Given the description of an element on the screen output the (x, y) to click on. 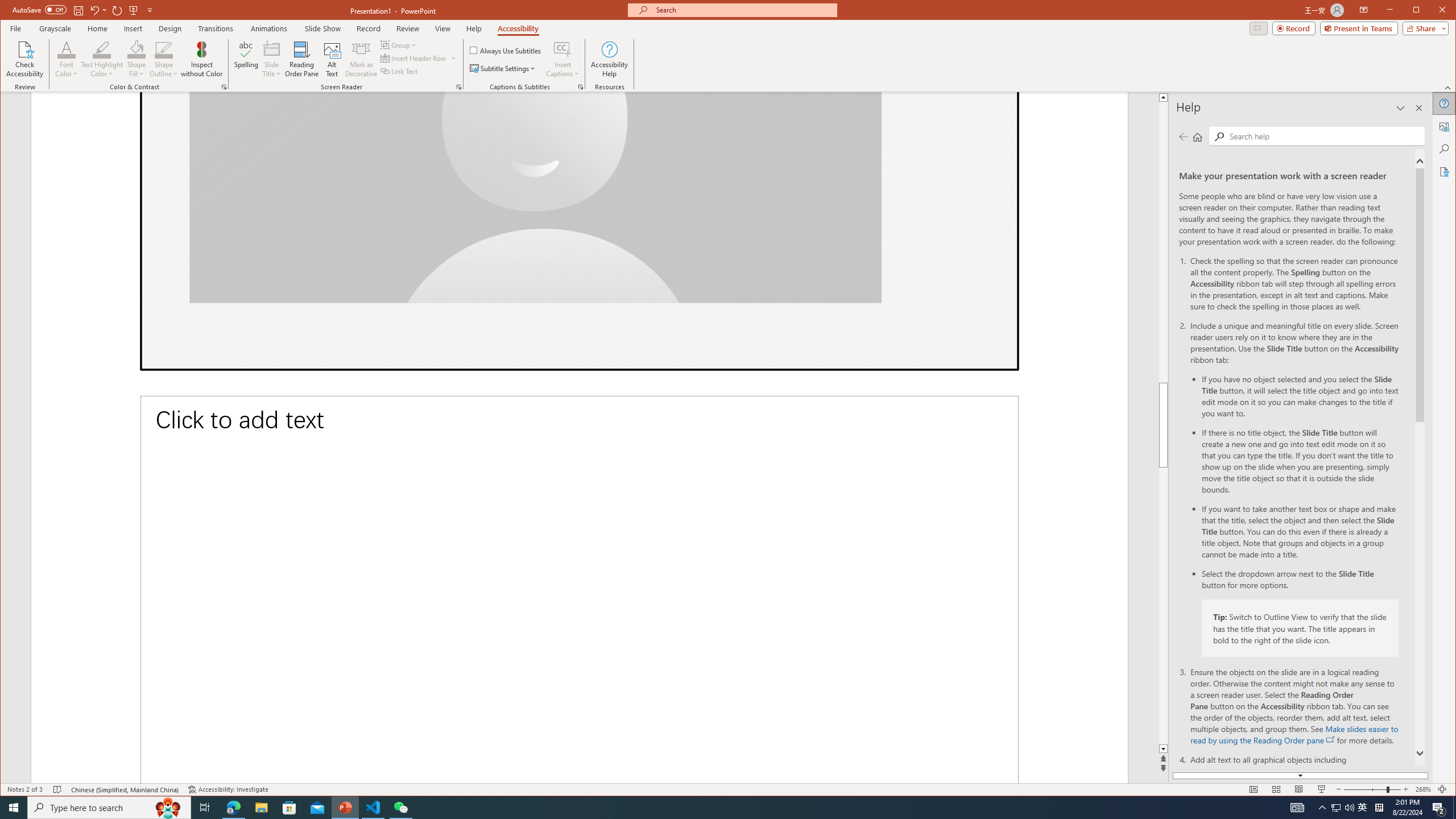
Inspect without Color (201, 59)
